Given the description of an element on the screen output the (x, y) to click on. 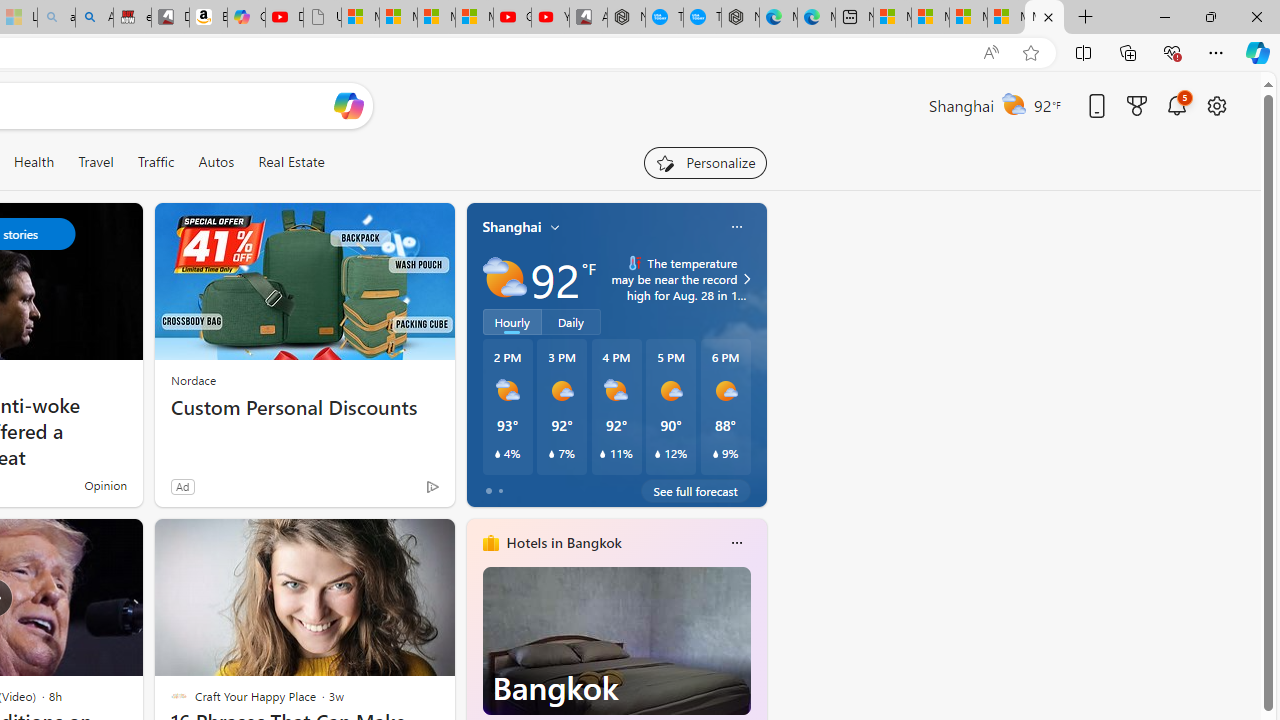
All Cubot phones (587, 17)
Daily (571, 321)
Health (34, 161)
Class: weather-current-precipitation-glyph (715, 453)
Traffic (155, 161)
Autos (215, 161)
Hourly (511, 321)
My location (555, 227)
Traffic (155, 162)
Autos (216, 162)
previous (476, 670)
